Given the description of an element on the screen output the (x, y) to click on. 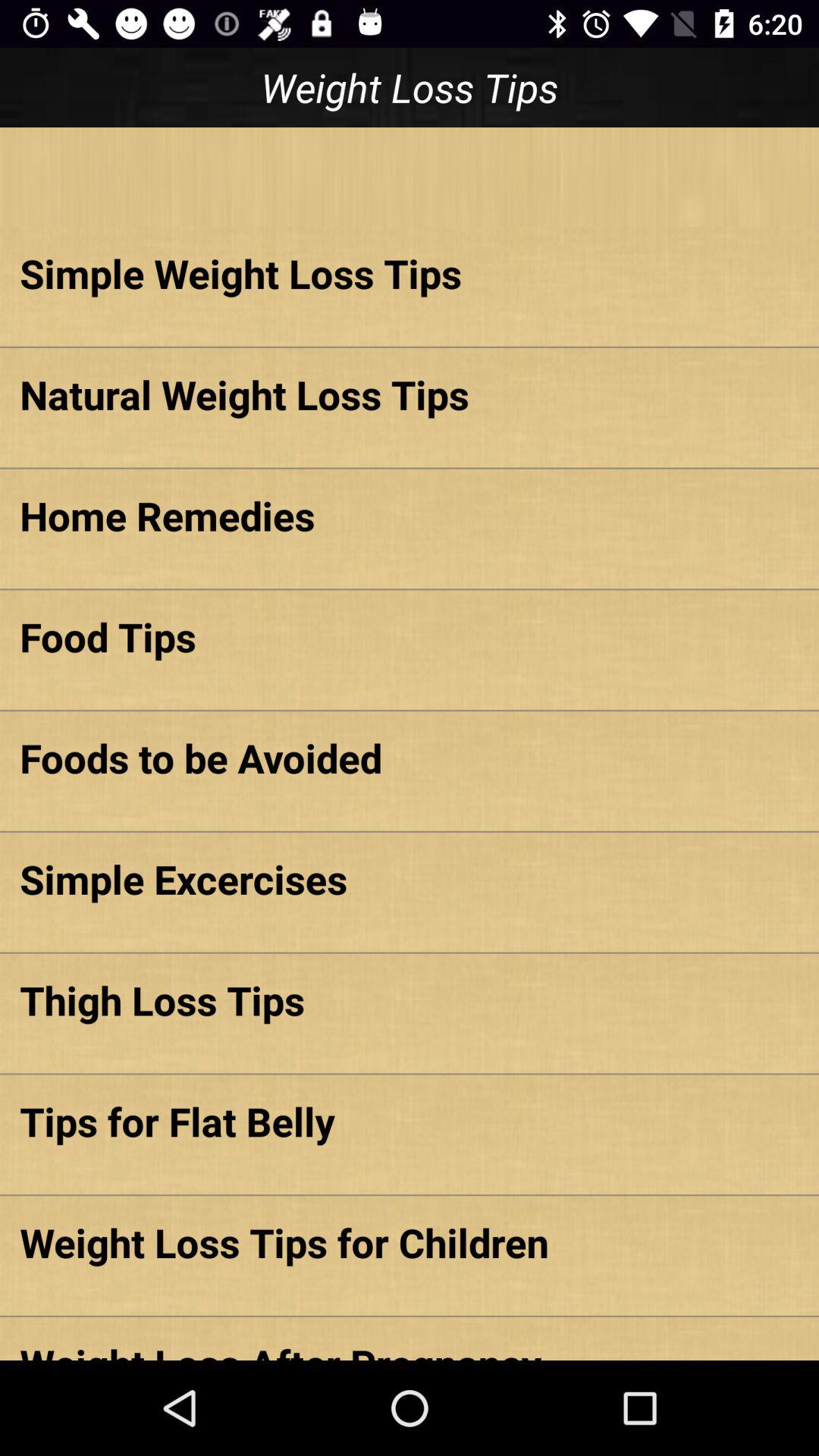
click app below foods to be app (409, 878)
